Given the description of an element on the screen output the (x, y) to click on. 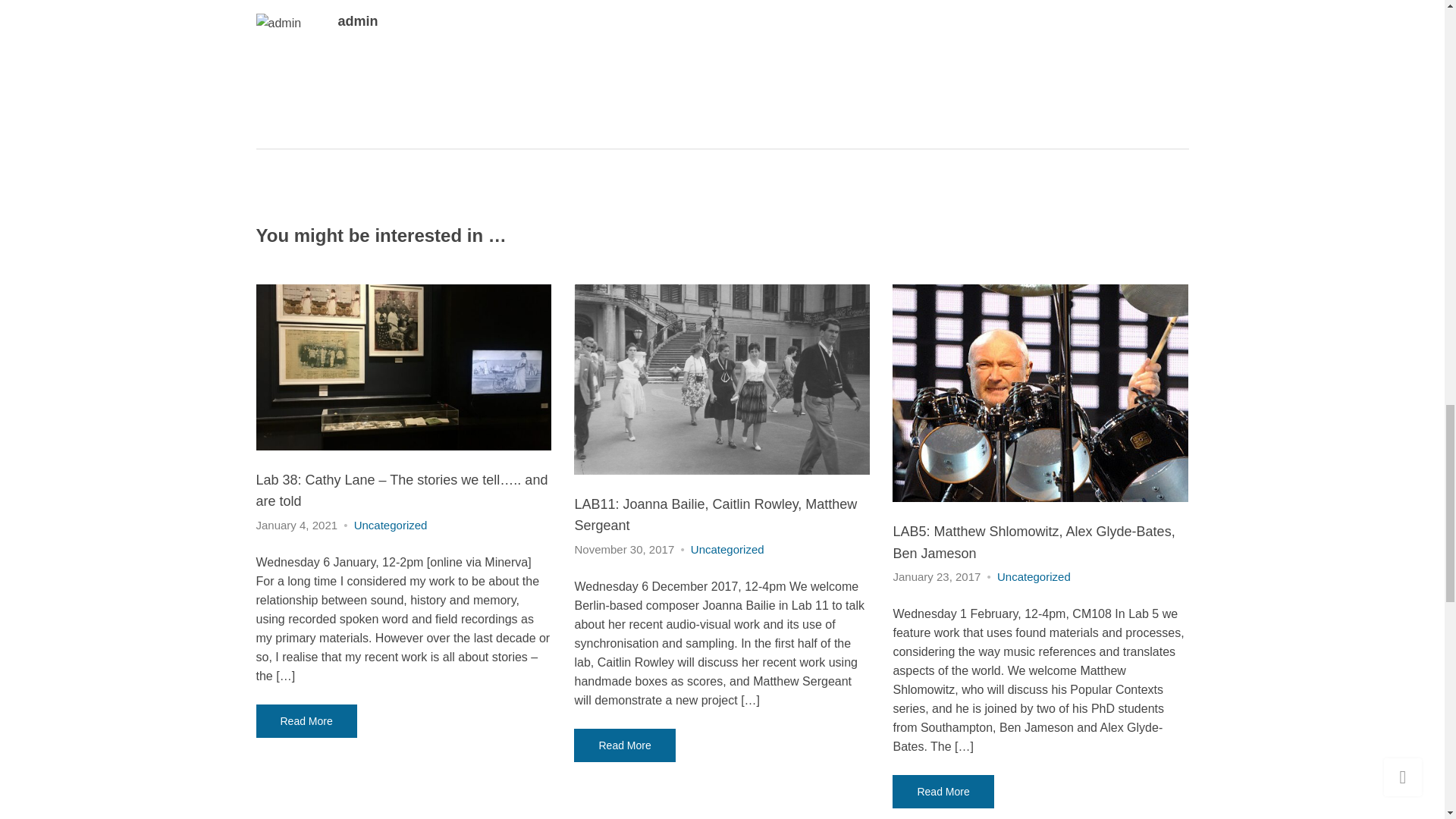
LAB5: Matthew Shlomowitz, Alex Glyde-Bates, Ben Jameson (1033, 542)
Uncategorized (1033, 576)
Uncategorized (390, 524)
Uncategorized (727, 549)
Read More (306, 720)
Read More (942, 791)
Read More (624, 745)
LAB11: Joanna Bailie, Caitlin Rowley, Matthew Sergeant (715, 514)
